Given the description of an element on the screen output the (x, y) to click on. 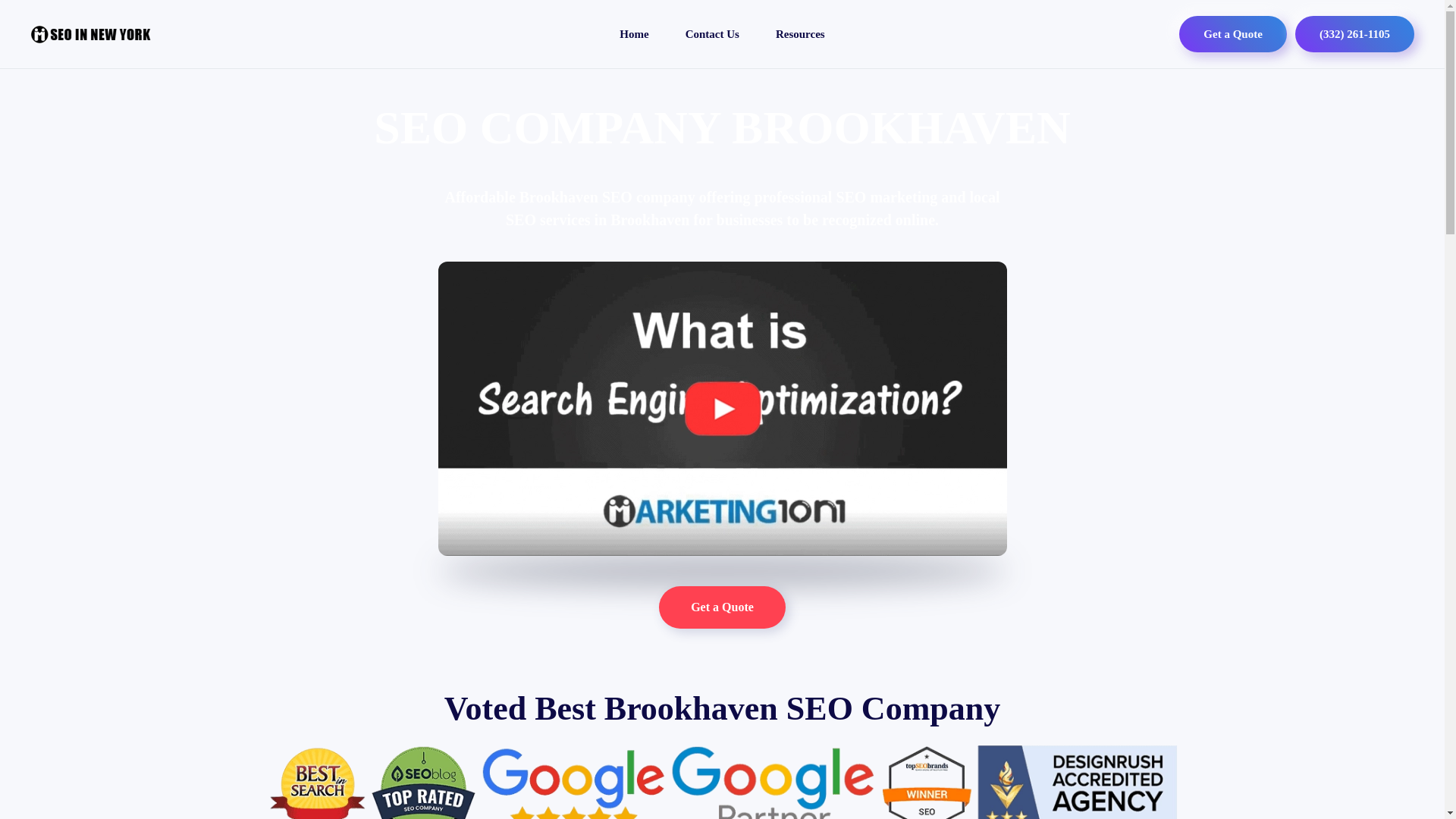
Resources (800, 33)
Contact Us (712, 33)
Get a Quote (722, 607)
Contact Us (712, 33)
Get a Quote (1232, 33)
